Given the description of an element on the screen output the (x, y) to click on. 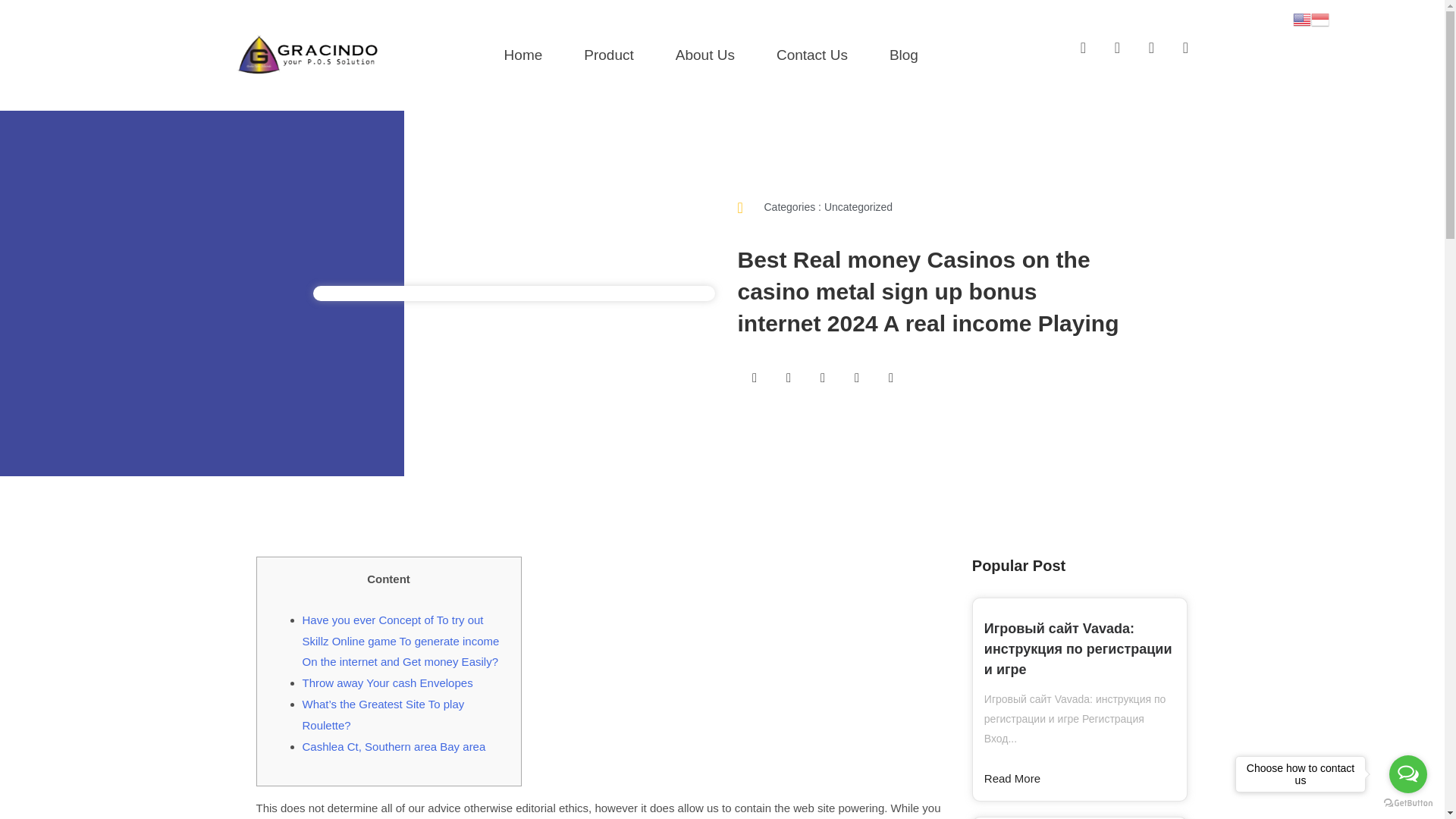
English (1301, 18)
Indonesian (1320, 18)
